Given the description of an element on the screen output the (x, y) to click on. 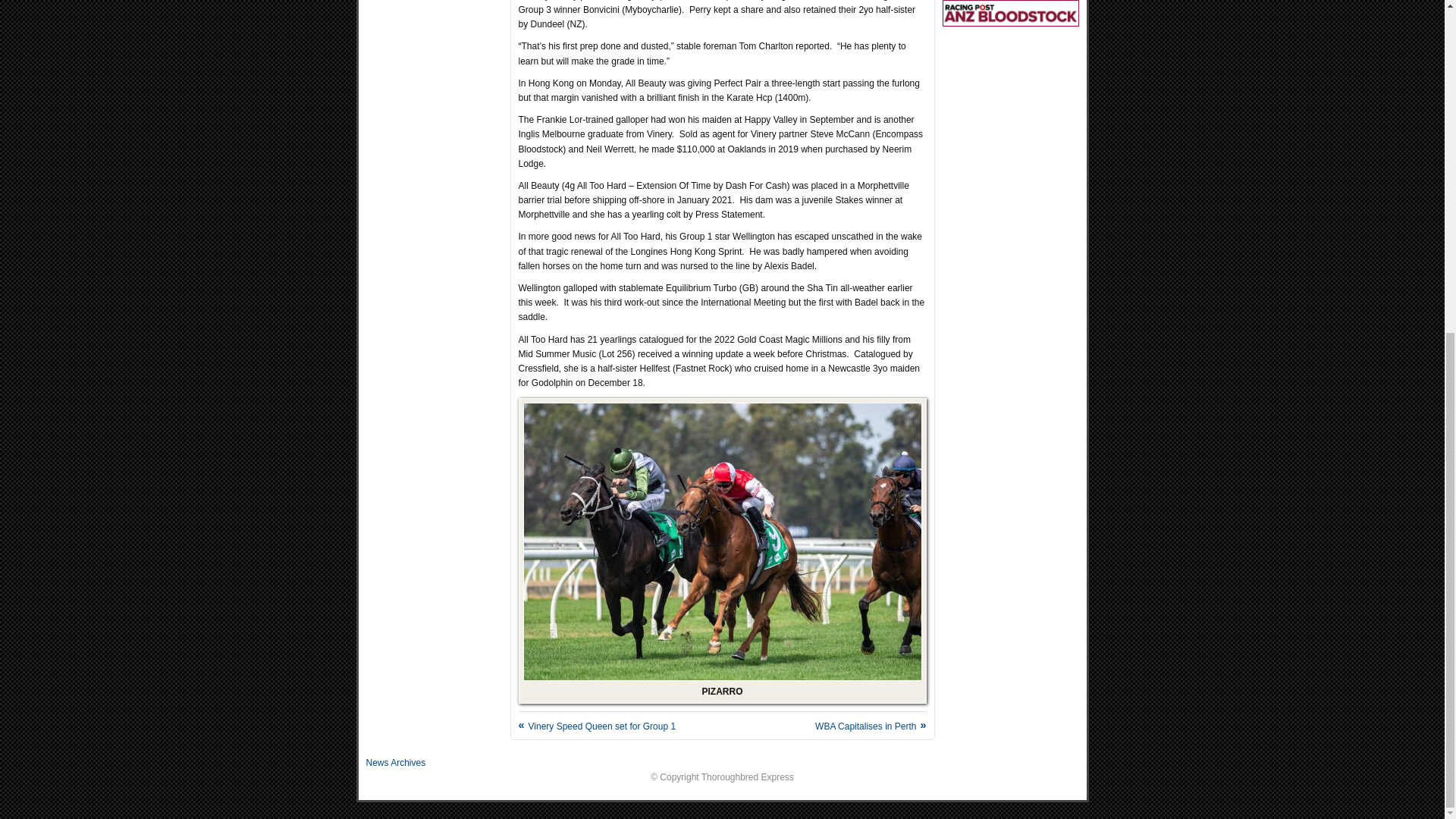
News Archives (395, 762)
